Given the description of an element on the screen output the (x, y) to click on. 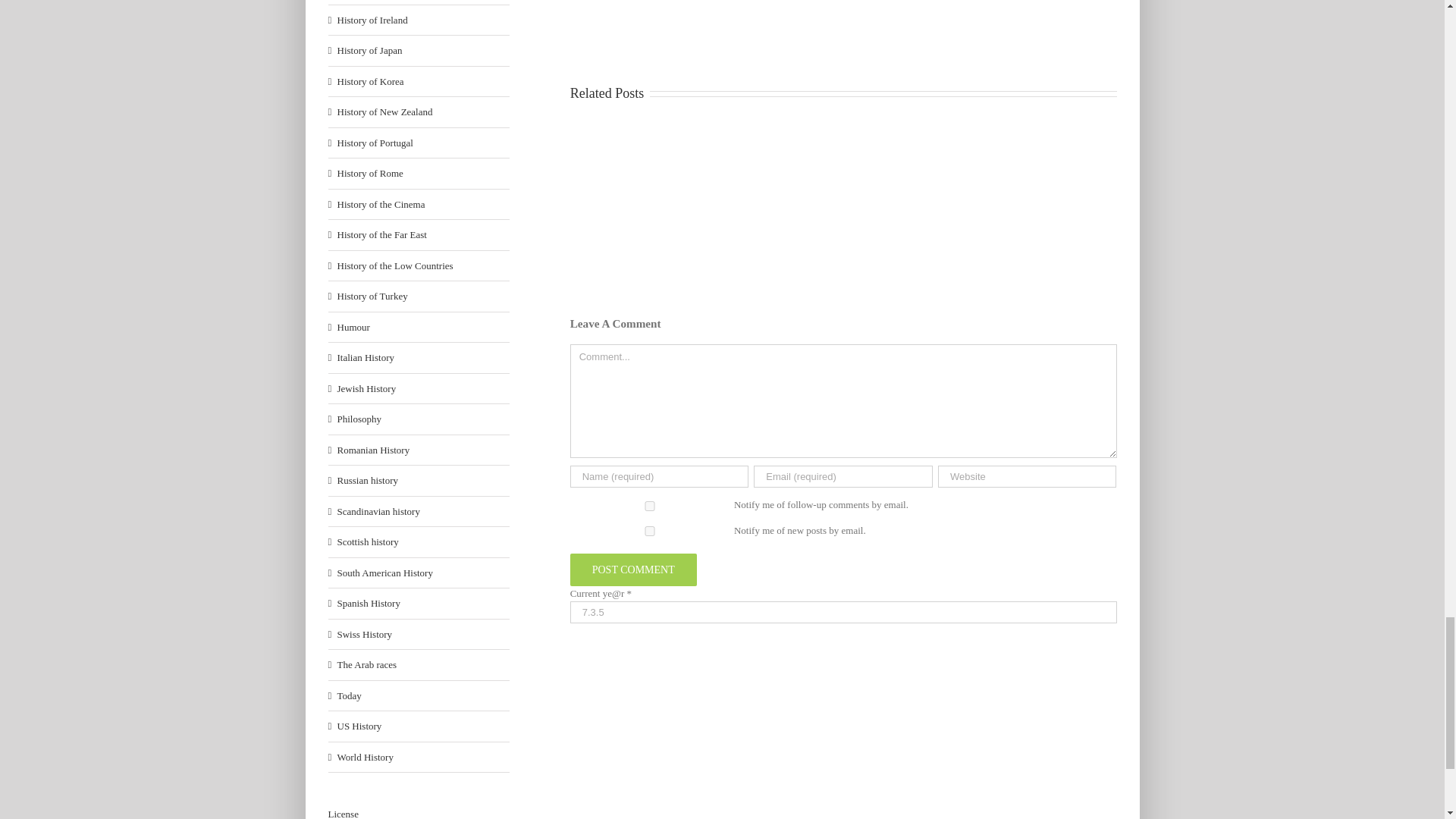
subscribe (649, 506)
7.3.5 (843, 612)
Post Comment (633, 569)
subscribe (649, 531)
